Given the description of an element on the screen output the (x, y) to click on. 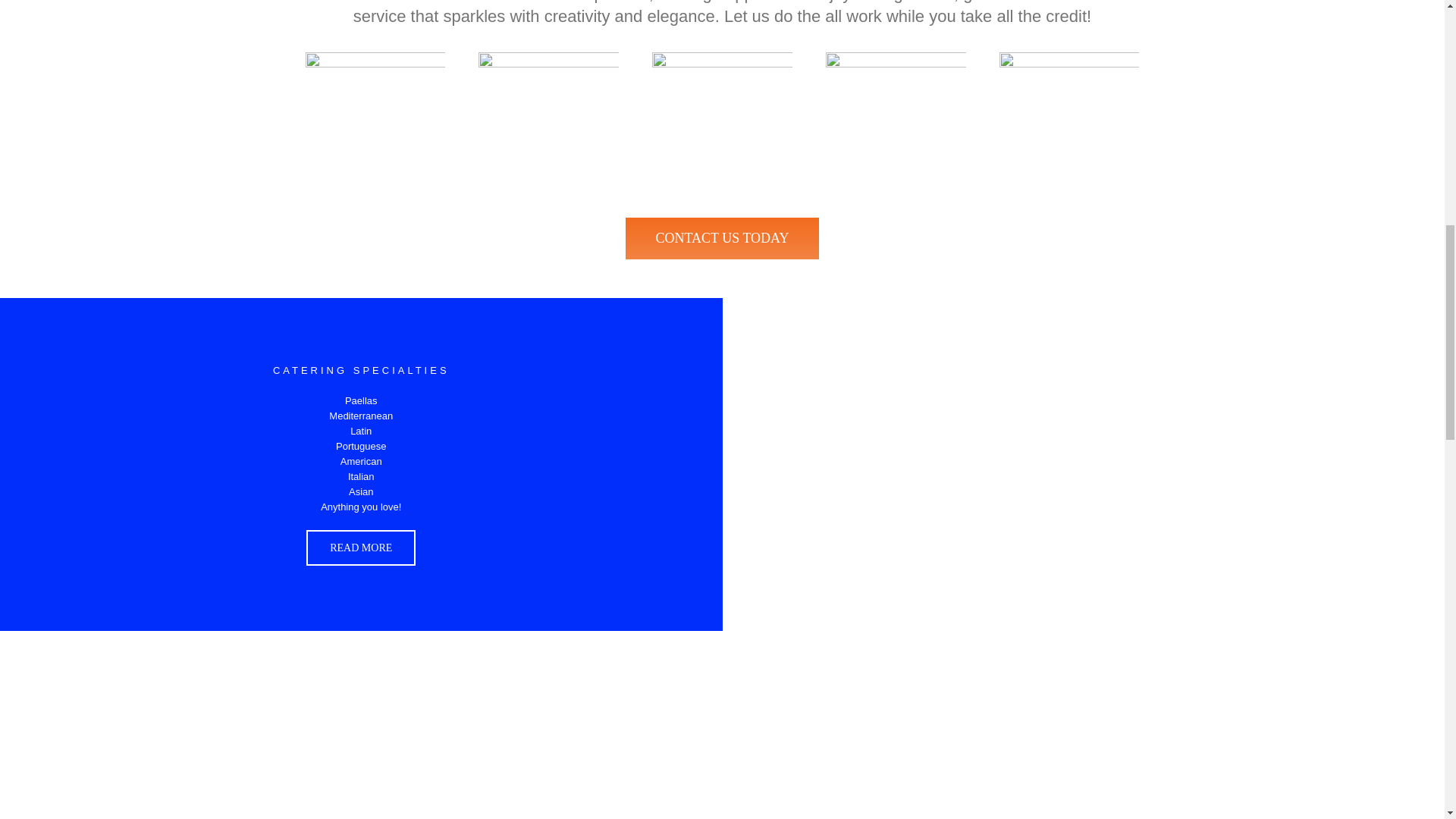
home-specialties-vegan (1069, 122)
home-specialties-appetizers (548, 122)
home-specialties-international (374, 122)
CONTACT US TODAY (722, 238)
READ MORE (359, 547)
home-specialties-paellas (722, 122)
home-specialties-soups (895, 122)
